Given the description of an element on the screen output the (x, y) to click on. 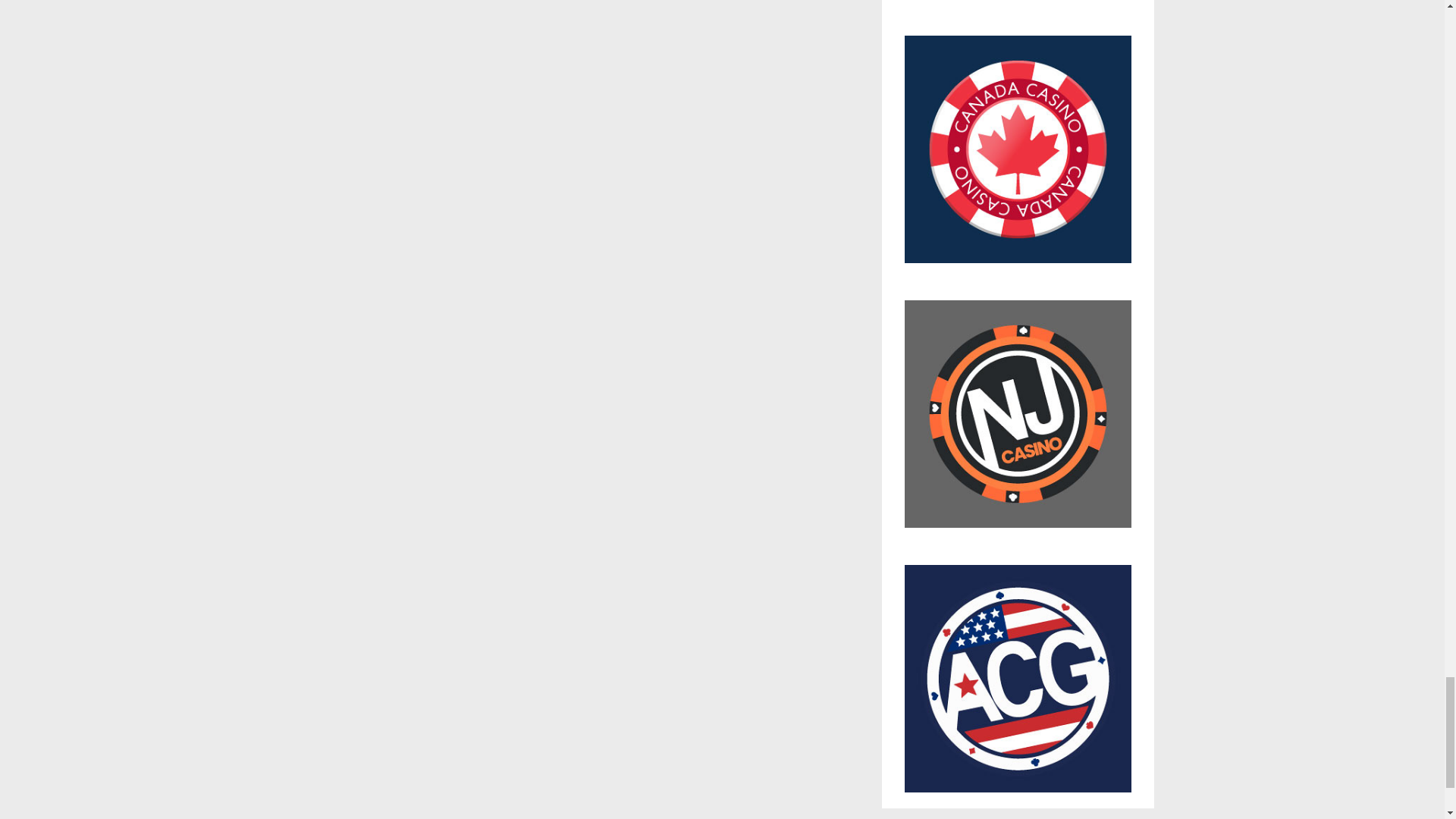
nj casino (1017, 421)
acg casino (1017, 678)
canada casino (1017, 157)
